Given the description of an element on the screen output the (x, y) to click on. 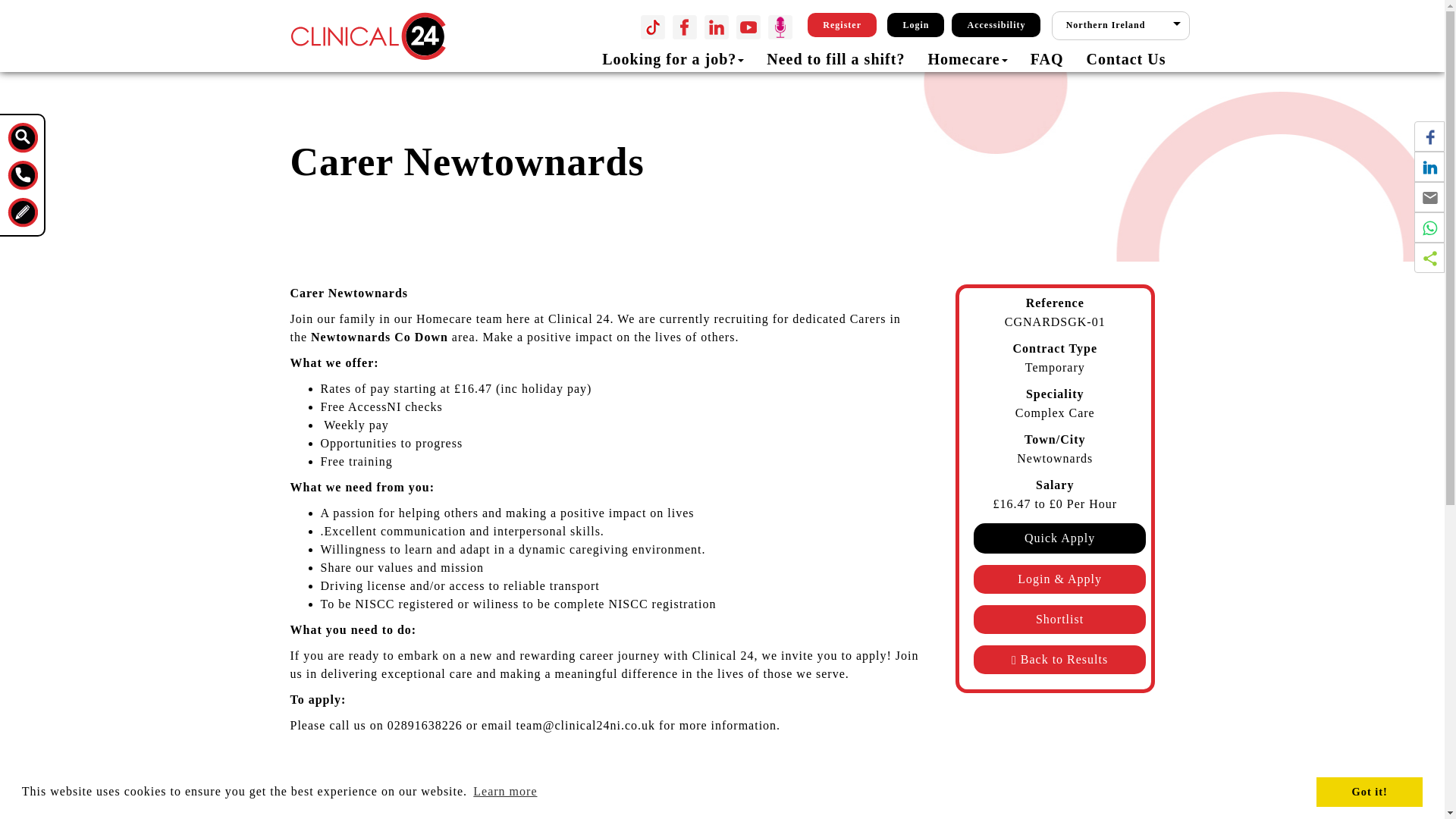
TikTok (652, 27)
Contact Us (1120, 58)
Need to fill a shift? (835, 58)
Like us on Facebook (684, 27)
YouTube (748, 27)
Connect with us on LinkedIn (716, 27)
Accessibility (996, 24)
Register your CV (842, 24)
HealthETalks (780, 27)
Login (914, 24)
FAQ (1047, 58)
Register (22, 212)
Learn more (505, 791)
Register (842, 24)
Contact Us (22, 175)
